Given the description of an element on the screen output the (x, y) to click on. 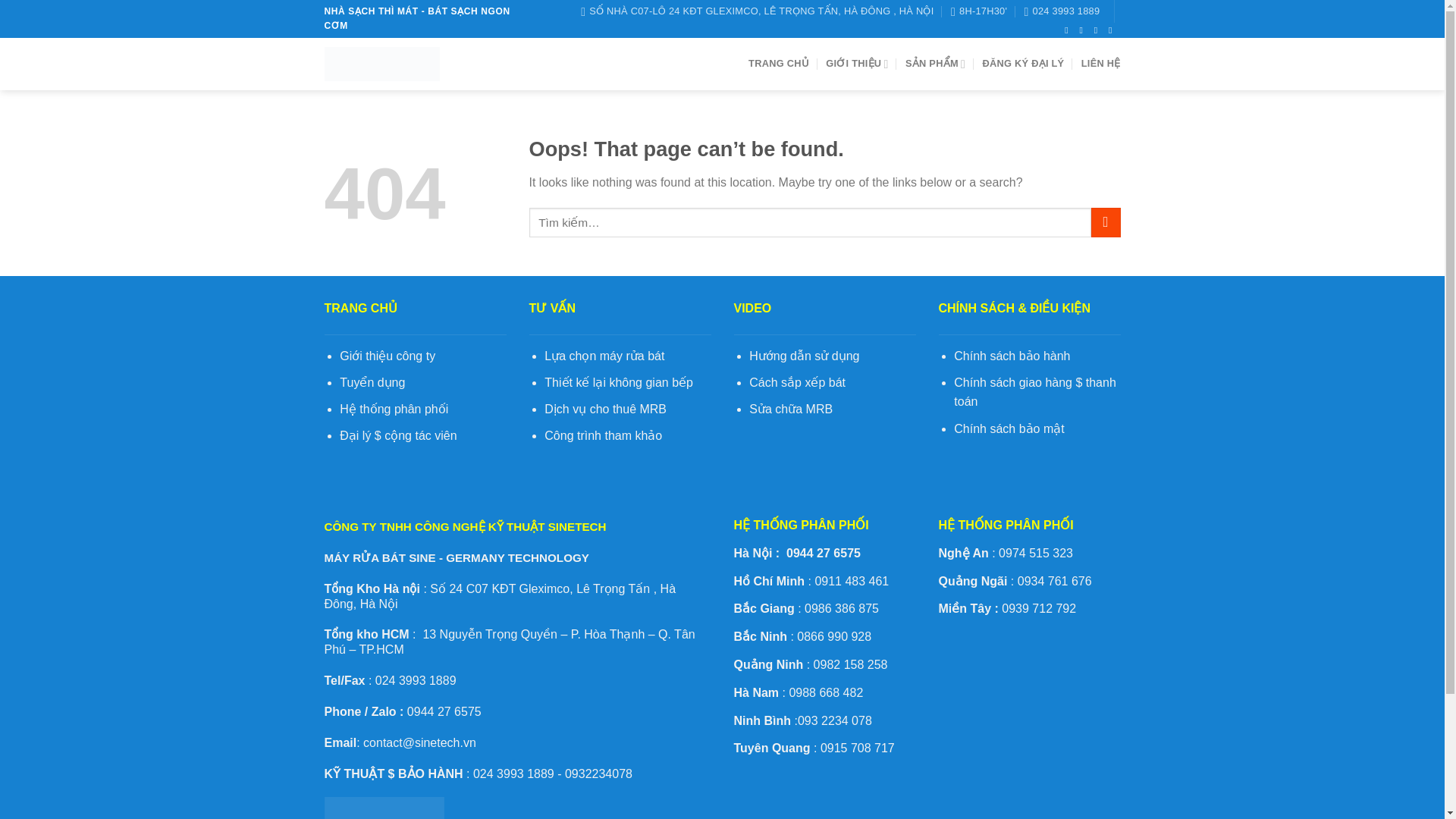
8H-17H30' (978, 11)
8h-17h30'  (978, 11)
024 3993 1889 (1061, 11)
024 3993 1889 (1061, 11)
